Given the description of an element on the screen output the (x, y) to click on. 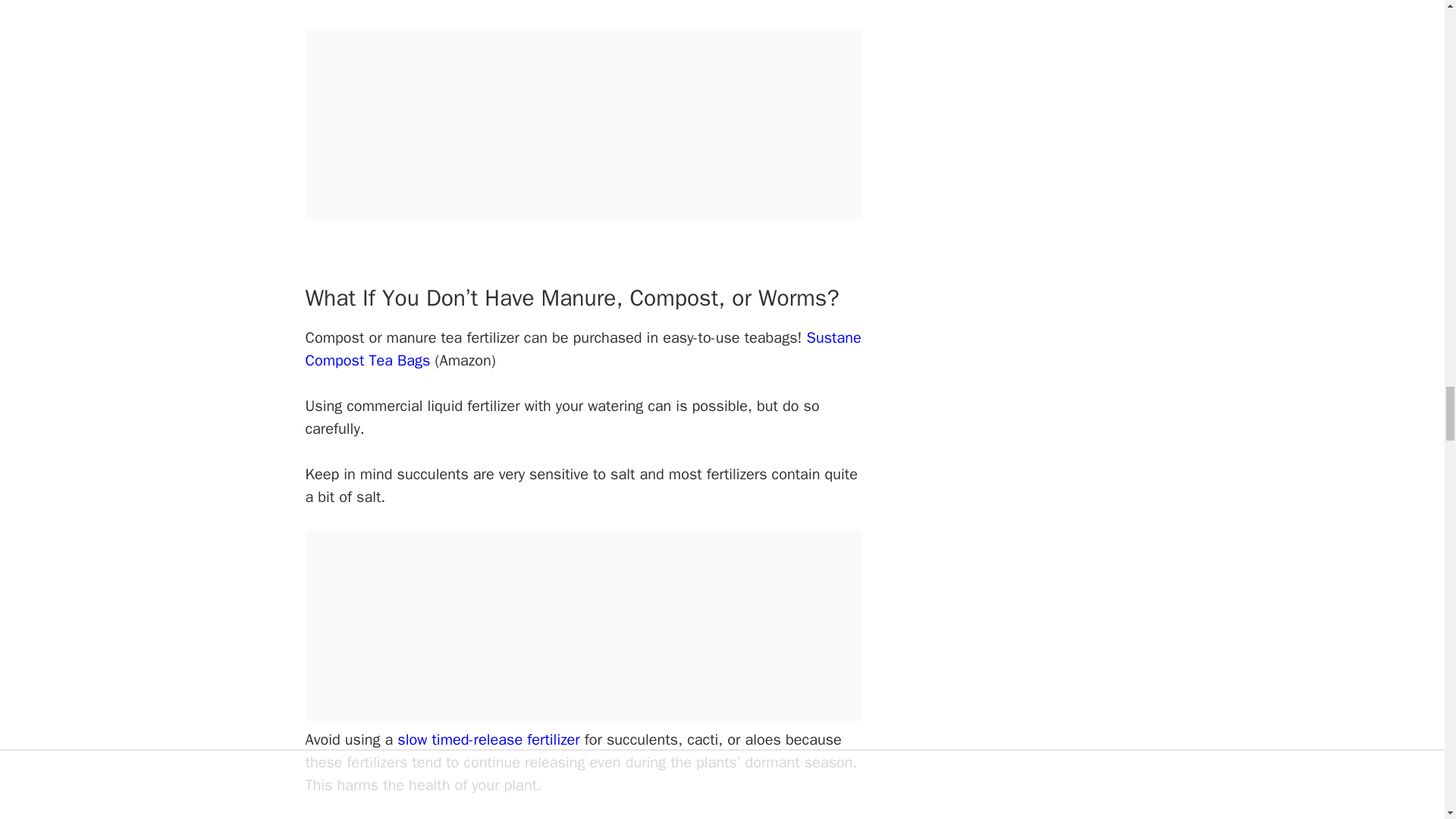
Fertilizing Succulents with Compost Tea (582, 3)
slow timed-release fertilizer (488, 739)
Sustane Compost Tea Bags (582, 349)
